Given the description of an element on the screen output the (x, y) to click on. 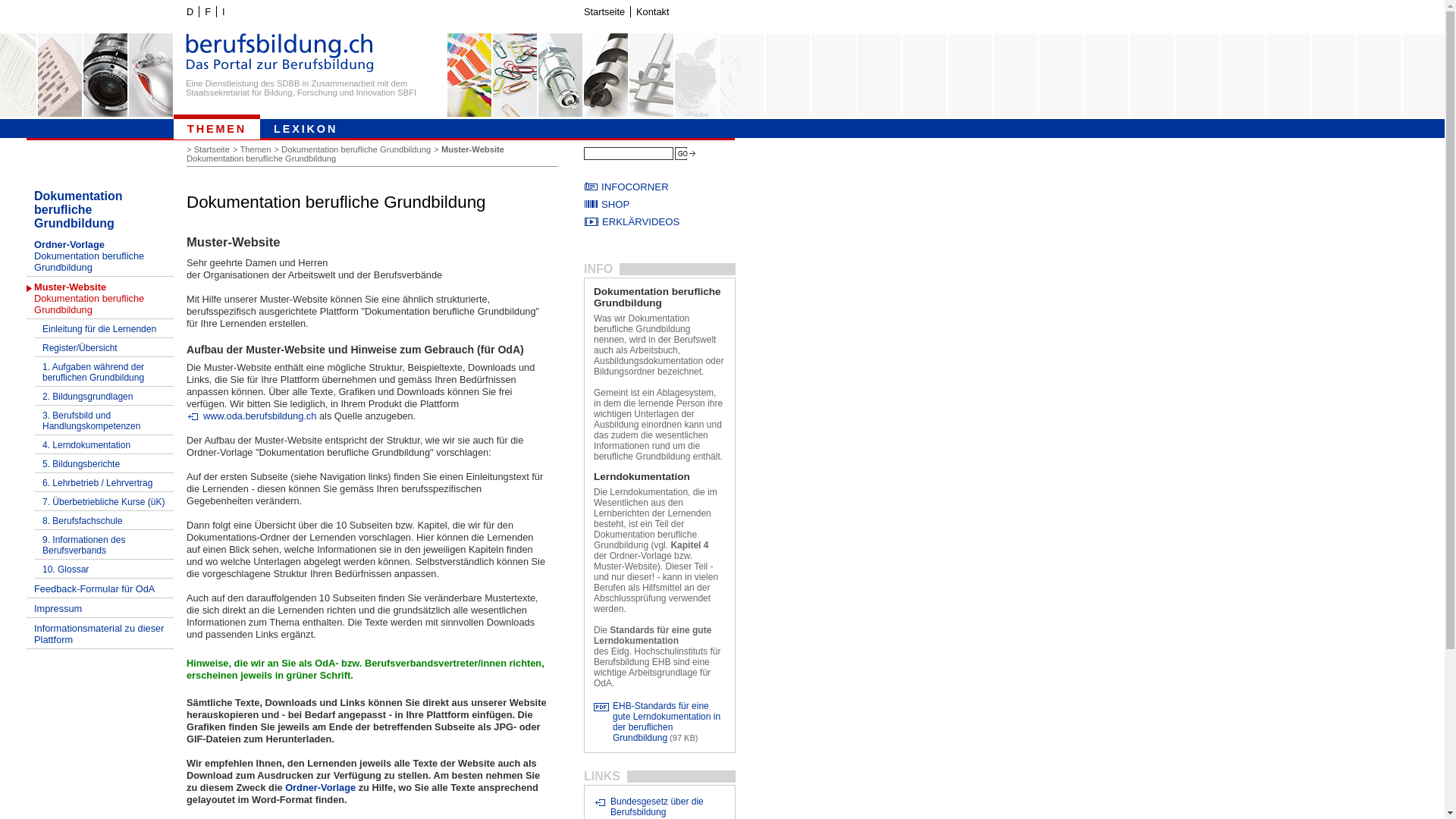
INFOCORNER Element type: text (659, 186)
Muster-Website Dokumentation berufliche Grundbildung Element type: text (99, 297)
D Element type: text (189, 11)
10. Glossar Element type: text (103, 568)
8. Berufsfachschule Element type: text (103, 520)
Ordner-Vorlage Element type: text (320, 787)
Ordner-Vorlage Dokumentation berufliche Grundbildung Element type: text (99, 255)
9. Informationen des Berufsverbands Element type: text (103, 544)
6. Lehrbetrieb / Lehrvertrag Element type: text (103, 482)
www.oda.berufsbildung.ch Element type: text (251, 416)
SHOP Element type: text (659, 204)
4. Lerndokumentation Element type: text (103, 444)
5. Bildungsberichte Element type: text (103, 463)
Informationsmaterial zu dieser Plattform Element type: text (99, 633)
Themen Element type: text (256, 148)
Startseite Element type: text (213, 148)
Muster-Website Dokumentation berufliche Grundbildung Element type: text (345, 153)
LEXIKON Element type: text (305, 126)
THEMEN Element type: text (216, 126)
Dokumentation berufliche Grundbildung Element type: text (357, 148)
Impressum Element type: text (99, 608)
Kontakt Element type: text (652, 11)
3. Berufsbild und Handlungskompetenzen Element type: text (103, 420)
2. Bildungsgrundlagen Element type: text (103, 395)
F Element type: text (207, 11)
I Element type: text (223, 11)
Dokumentation berufliche Grundbildung Element type: text (99, 209)
Startseite Element type: text (603, 11)
